Given the description of an element on the screen output the (x, y) to click on. 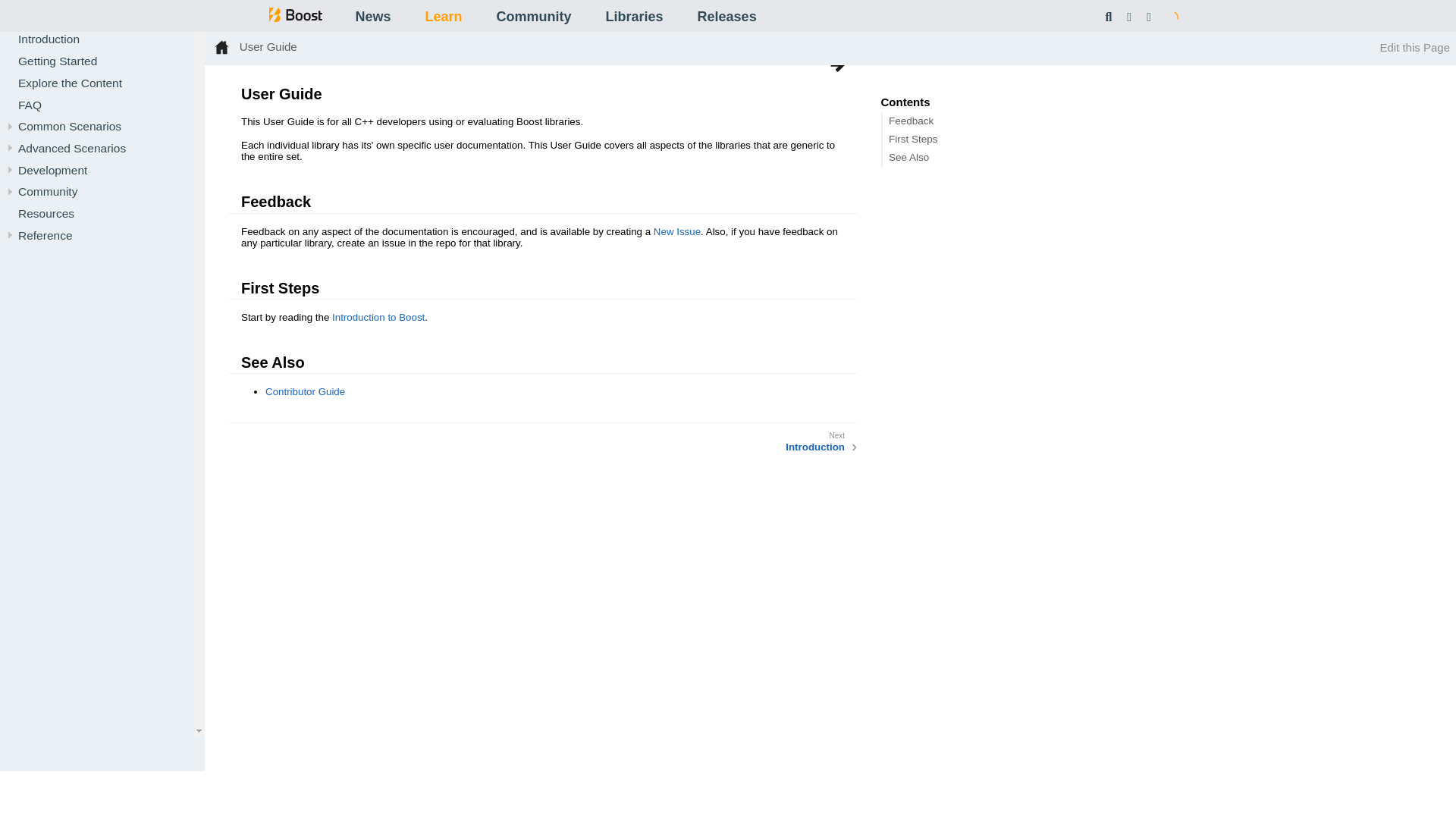
FAQ (29, 104)
Getting Started (57, 60)
User Guide (39, 15)
Community (533, 16)
News (372, 16)
Explore the Content (69, 82)
Introduction (48, 38)
Learn (443, 16)
Releases (727, 16)
Libraries (634, 16)
